Given the description of an element on the screen output the (x, y) to click on. 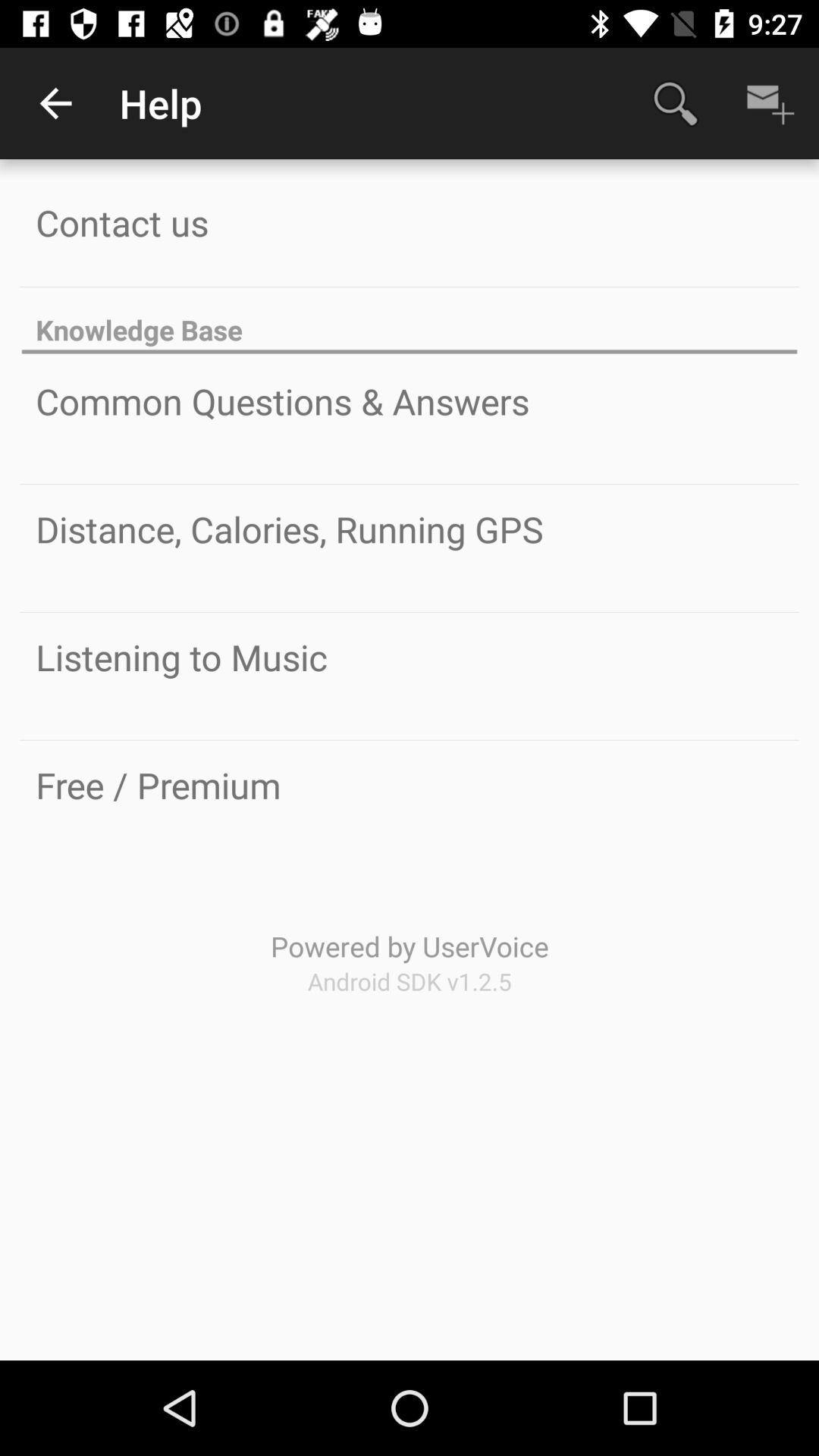
choose item to the left of help (55, 103)
